Given the description of an element on the screen output the (x, y) to click on. 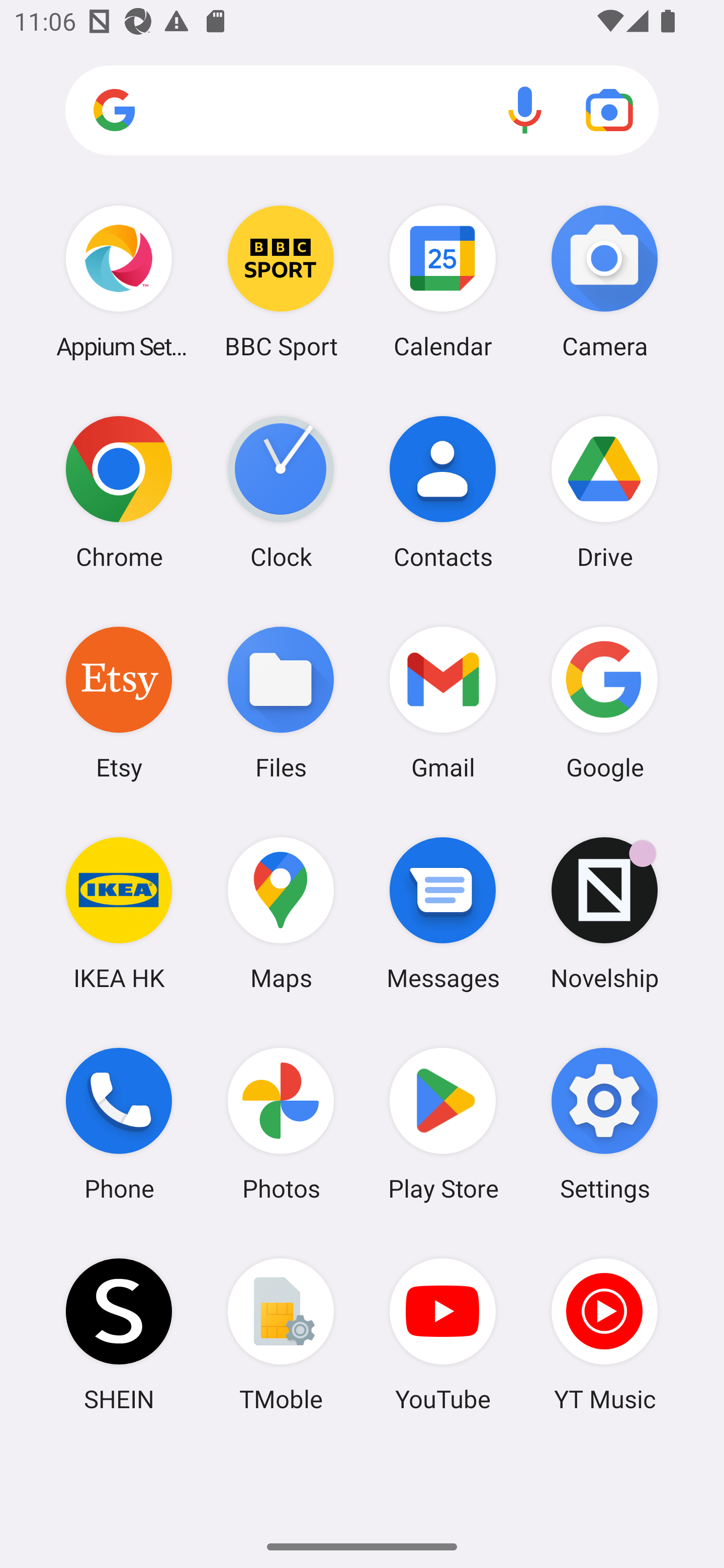
Search apps, web and more (361, 110)
Voice search (524, 109)
Google Lens (608, 109)
Appium Settings (118, 281)
BBC Sport (280, 281)
Calendar (443, 281)
Camera (604, 281)
Chrome (118, 492)
Clock (280, 492)
Contacts (443, 492)
Drive (604, 492)
Etsy (118, 702)
Files (280, 702)
Gmail (443, 702)
Google (604, 702)
IKEA HK (118, 913)
Maps (280, 913)
Messages (443, 913)
Novelship Novelship has 2 notifications (604, 913)
Phone (118, 1124)
Photos (280, 1124)
Play Store (443, 1124)
Settings (604, 1124)
SHEIN (118, 1334)
TMoble (280, 1334)
YouTube (443, 1334)
YT Music (604, 1334)
